Given the description of an element on the screen output the (x, y) to click on. 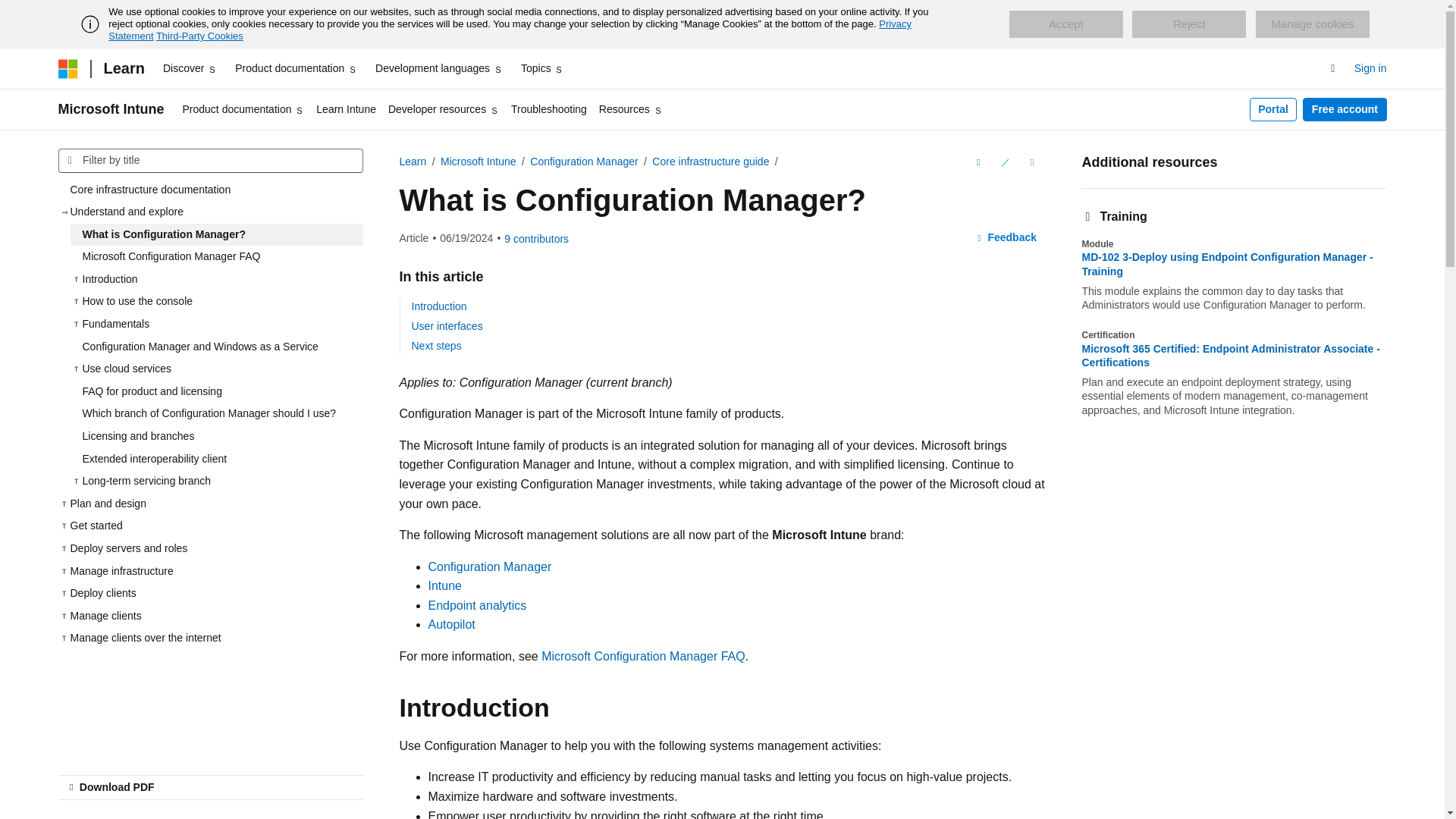
More actions (1031, 161)
Sign in (1370, 68)
Third-Party Cookies (199, 35)
Learn (123, 68)
Reject (1189, 23)
Topics (542, 68)
Skip to main content (11, 11)
Discover (189, 68)
Product documentation (295, 68)
Edit This Document (1004, 161)
